Given the description of an element on the screen output the (x, y) to click on. 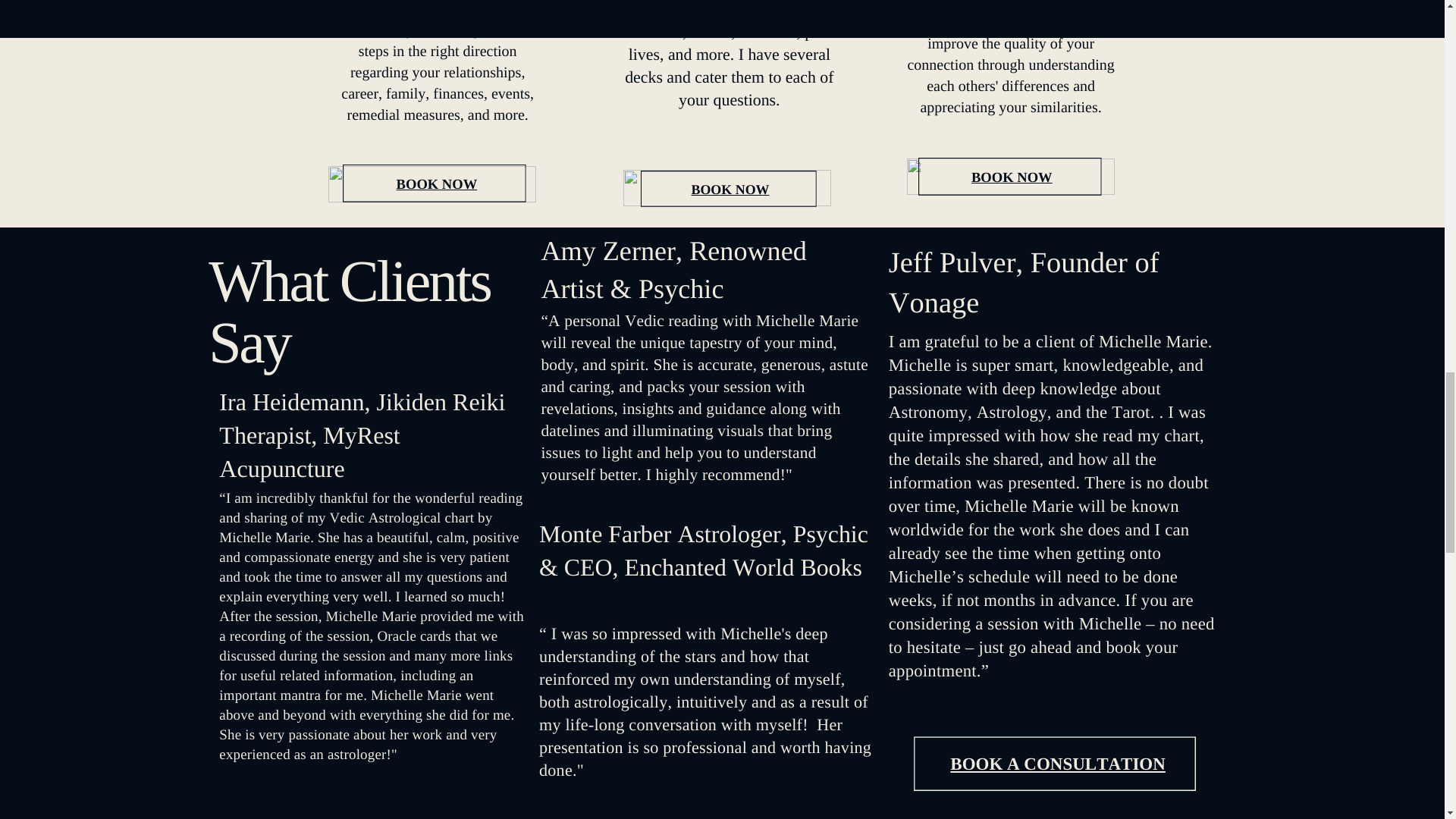
BOOK NOW (436, 184)
BOOK NOW (730, 189)
BOOK A CONSULTATION (1058, 763)
BOOK NOW (1011, 177)
